Given the description of an element on the screen output the (x, y) to click on. 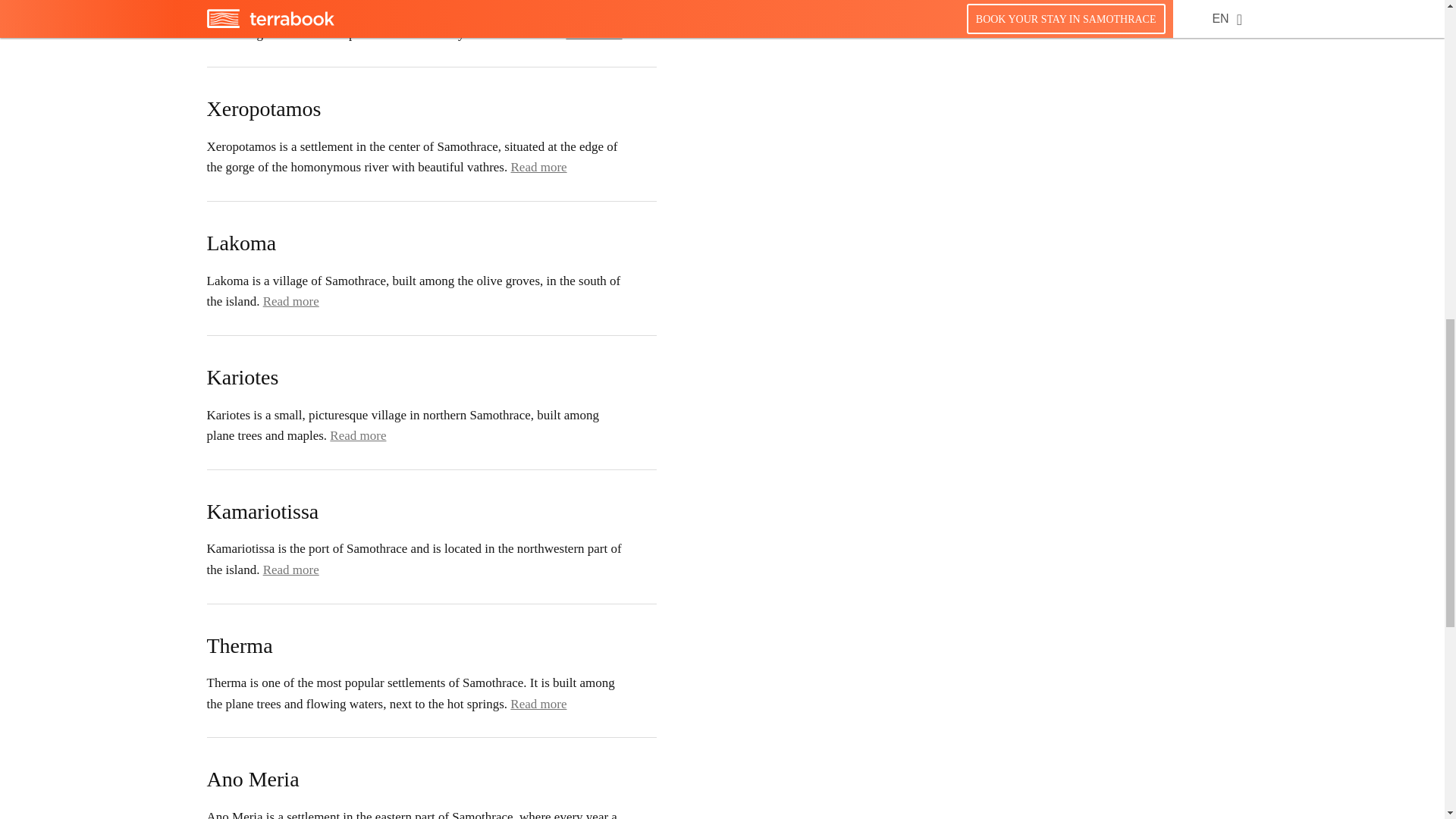
Read more (538, 703)
Read more (357, 435)
Read more (539, 166)
Read more (290, 301)
Read more (290, 569)
Read more (593, 33)
